Given the description of an element on the screen output the (x, y) to click on. 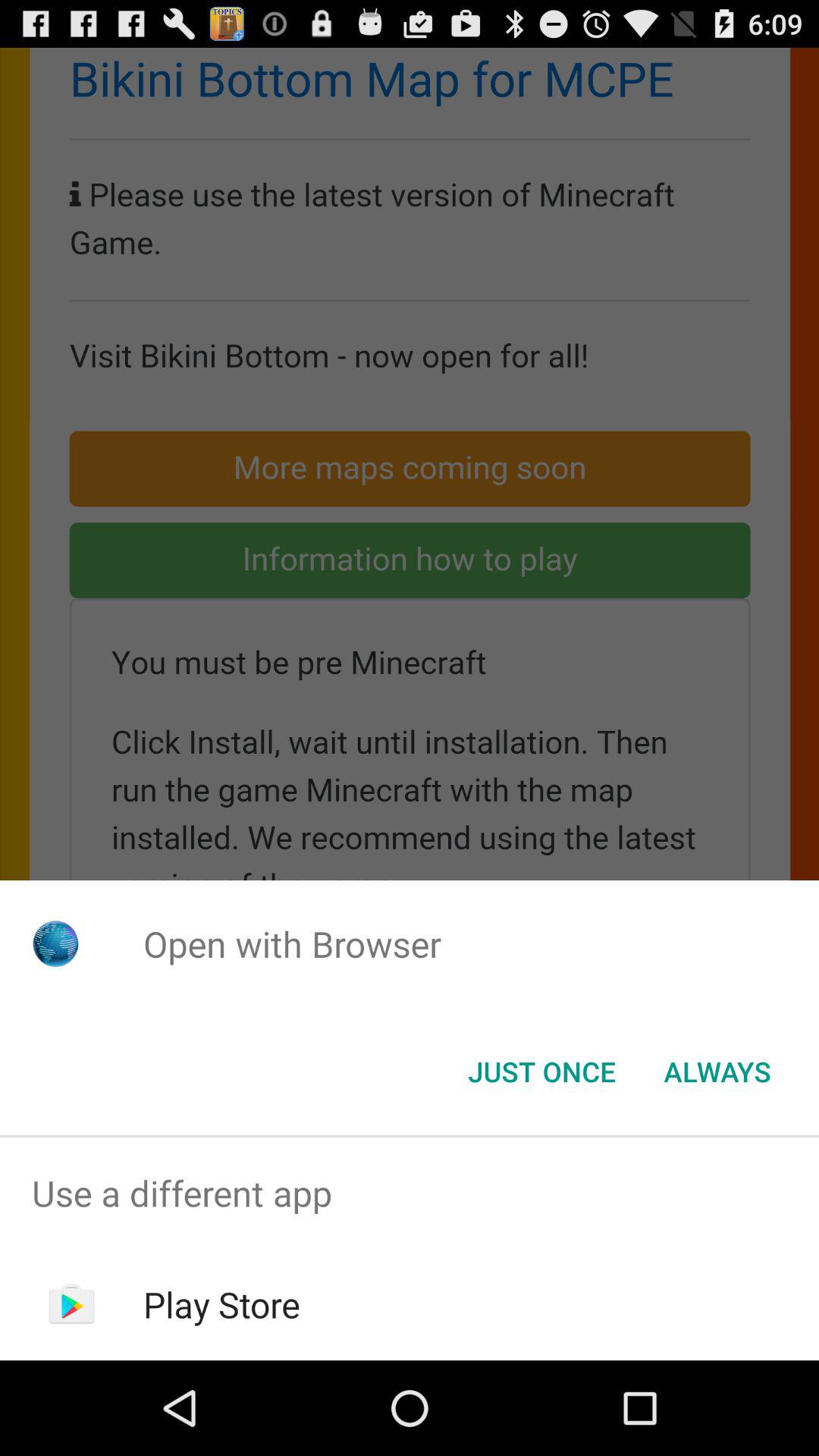
open use a different (409, 1192)
